Given the description of an element on the screen output the (x, y) to click on. 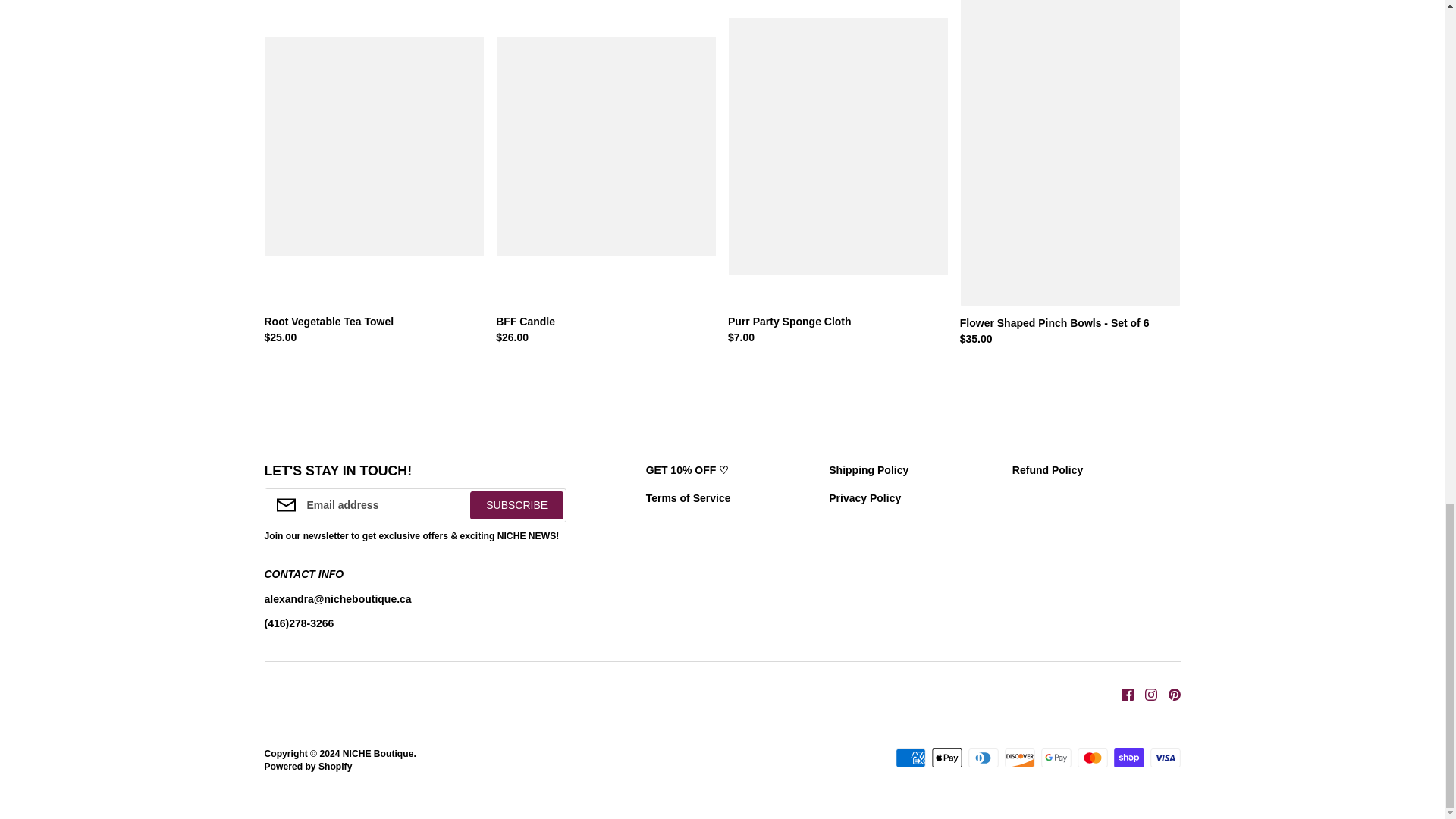
Mastercard (1092, 757)
Shop Pay (1128, 757)
Google Pay (1056, 757)
Apple Pay (946, 757)
Diners Club (983, 757)
American Express (910, 757)
Visa (1164, 757)
Discover (1019, 757)
